Given the description of an element on the screen output the (x, y) to click on. 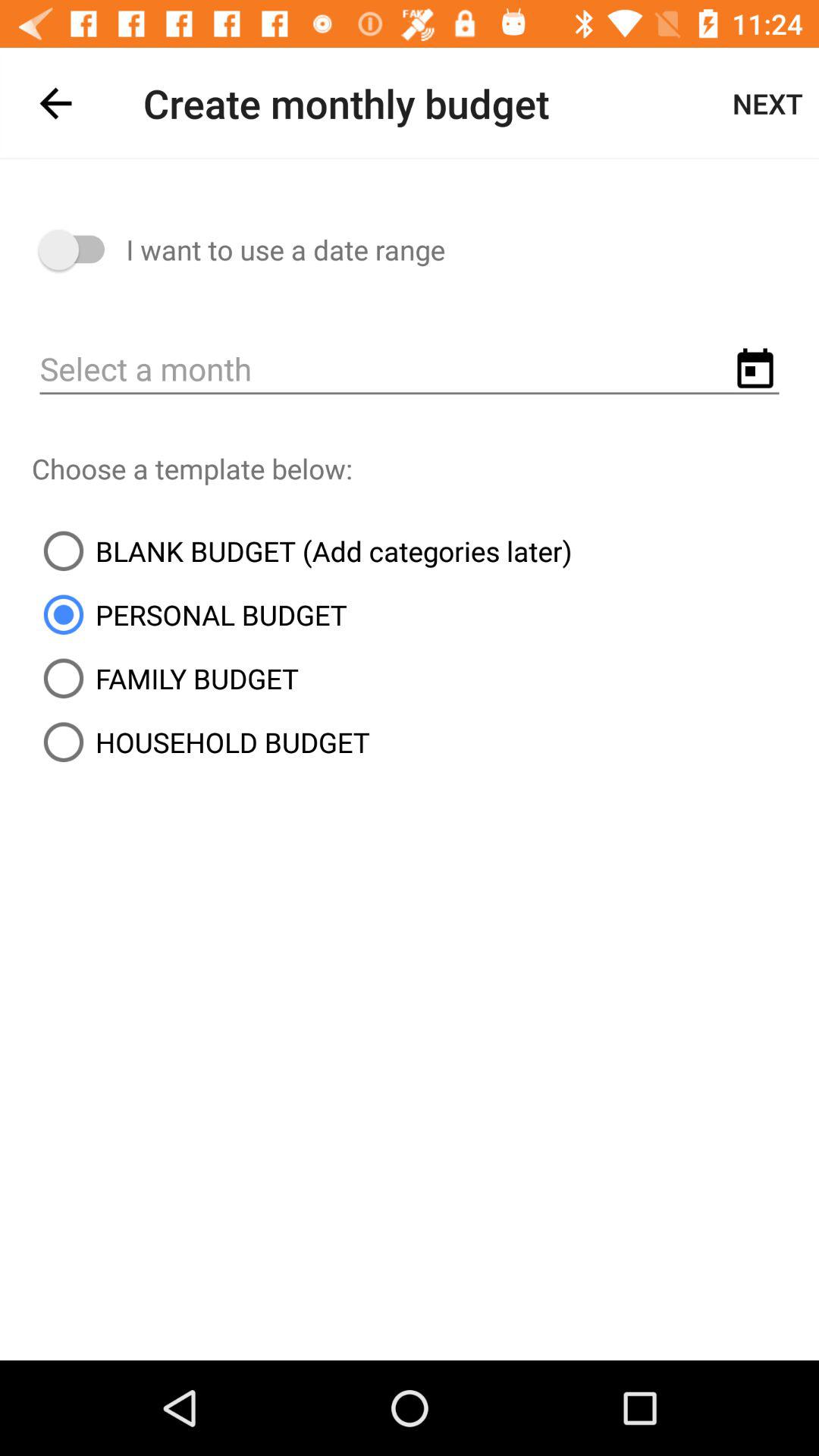
select month option (409, 370)
